Given the description of an element on the screen output the (x, y) to click on. 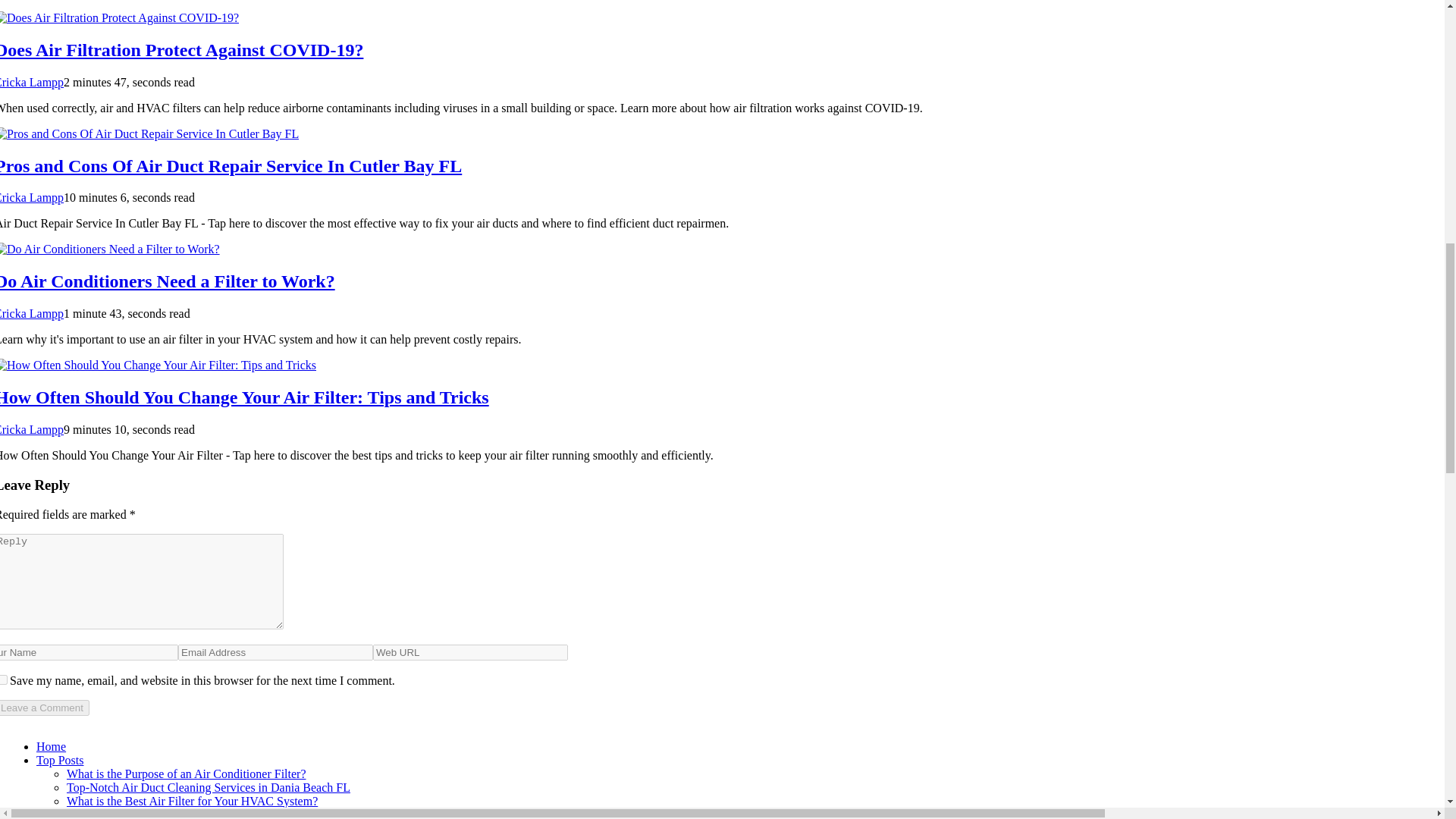
Ericka Lampp (32, 429)
Does Air Filtration Protect Against COVID-19? (181, 49)
Leave a Comment (44, 707)
Top Posts (59, 759)
Ericka Lampp (32, 82)
Top-Notch Air Duct Cleaning Services in Dania Beach FL (208, 787)
Ericka Lampp (32, 313)
How Often Should You Change Your Air Filter: Tips and Tricks (244, 397)
Posts by Ericka Lampp (32, 313)
Home (50, 746)
